Given the description of an element on the screen output the (x, y) to click on. 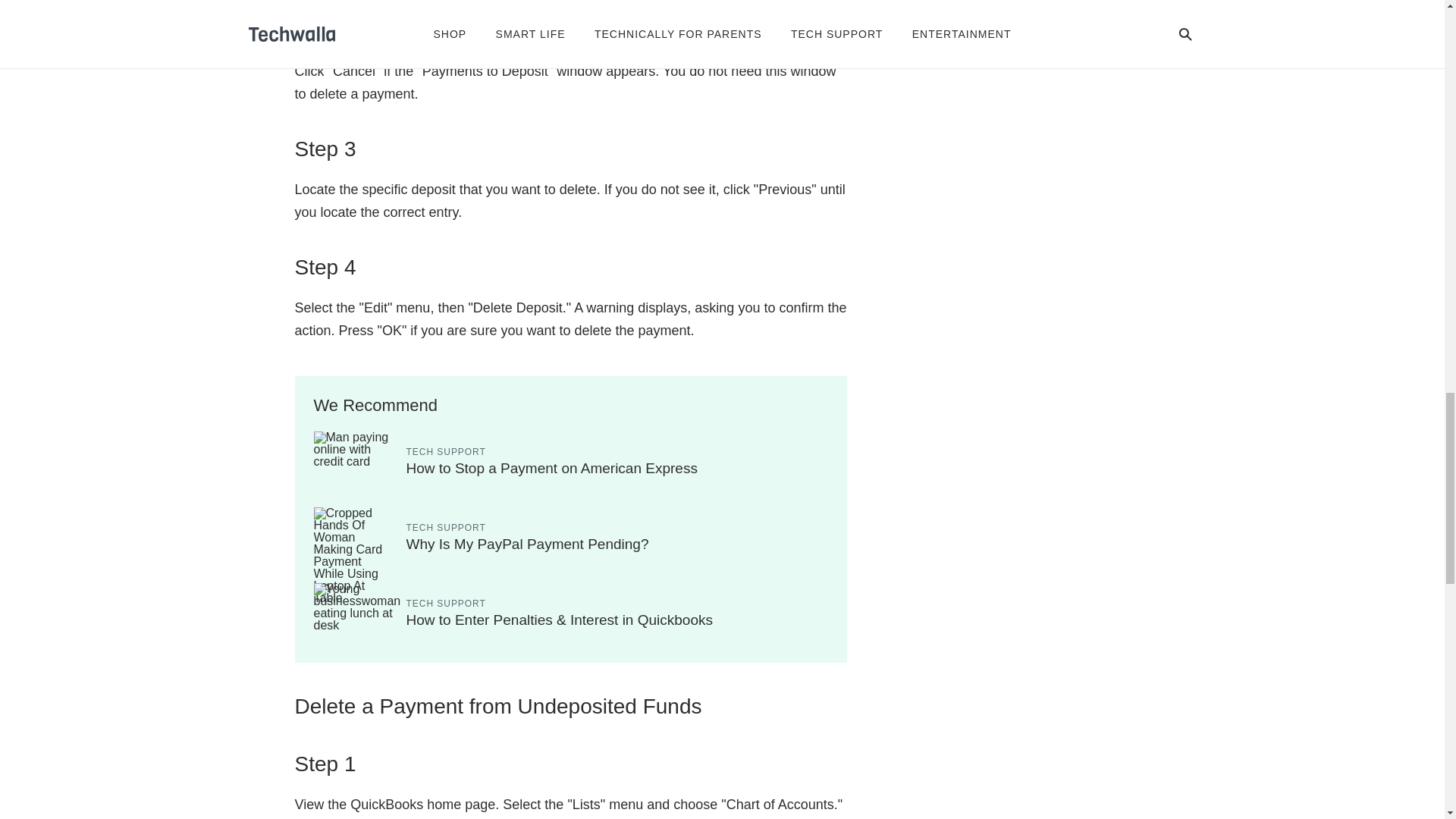
How to Stop a Payment on American Express (551, 467)
Why Is My PayPal Payment Pending? (527, 544)
